Given the description of an element on the screen output the (x, y) to click on. 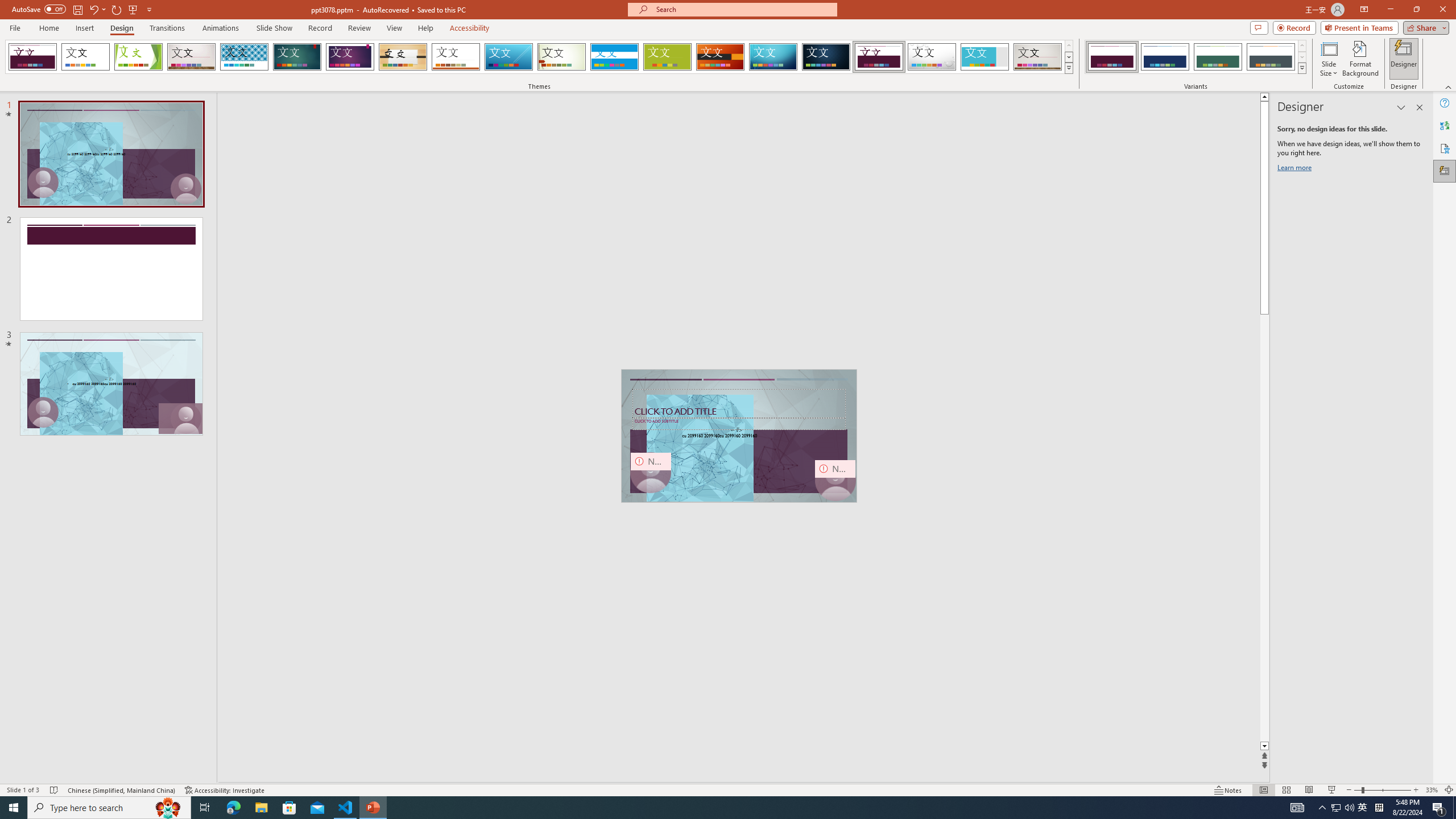
Integral (244, 56)
Record (1294, 27)
Record (320, 28)
Collapse the Ribbon (1448, 86)
Microsoft search (742, 9)
Help (1444, 102)
Share (1423, 27)
Design (122, 28)
Basis (667, 56)
Themes (1068, 67)
Close pane (1419, 107)
Class: NetUIImage (1302, 68)
Save (77, 9)
Restore Down (1416, 9)
Reading View (1308, 790)
